Given the description of an element on the screen output the (x, y) to click on. 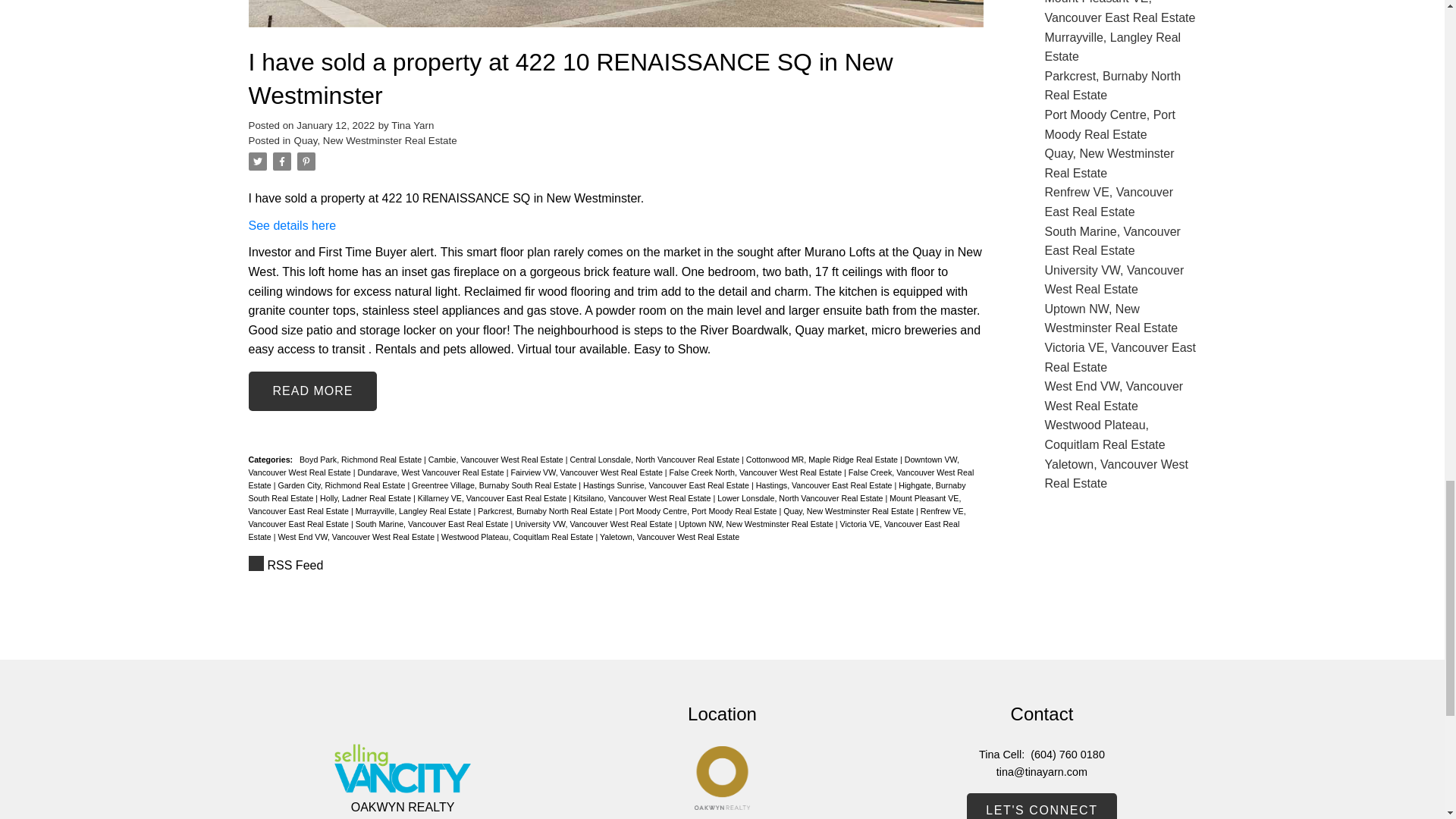
Cottonwood MR, Maple Ridge Real Estate (822, 459)
Cambie, Vancouver West Real Estate (497, 459)
Quay, New Westminster Real Estate (375, 140)
Downtown VW, Vancouver West Real Estate (603, 465)
See details here (292, 225)
Read full post (616, 22)
Boyd Park, Richmond Real Estate (361, 459)
Central Lonsdale, North Vancouver Real Estate (655, 459)
READ (312, 391)
RSS (616, 565)
